Given the description of an element on the screen output the (x, y) to click on. 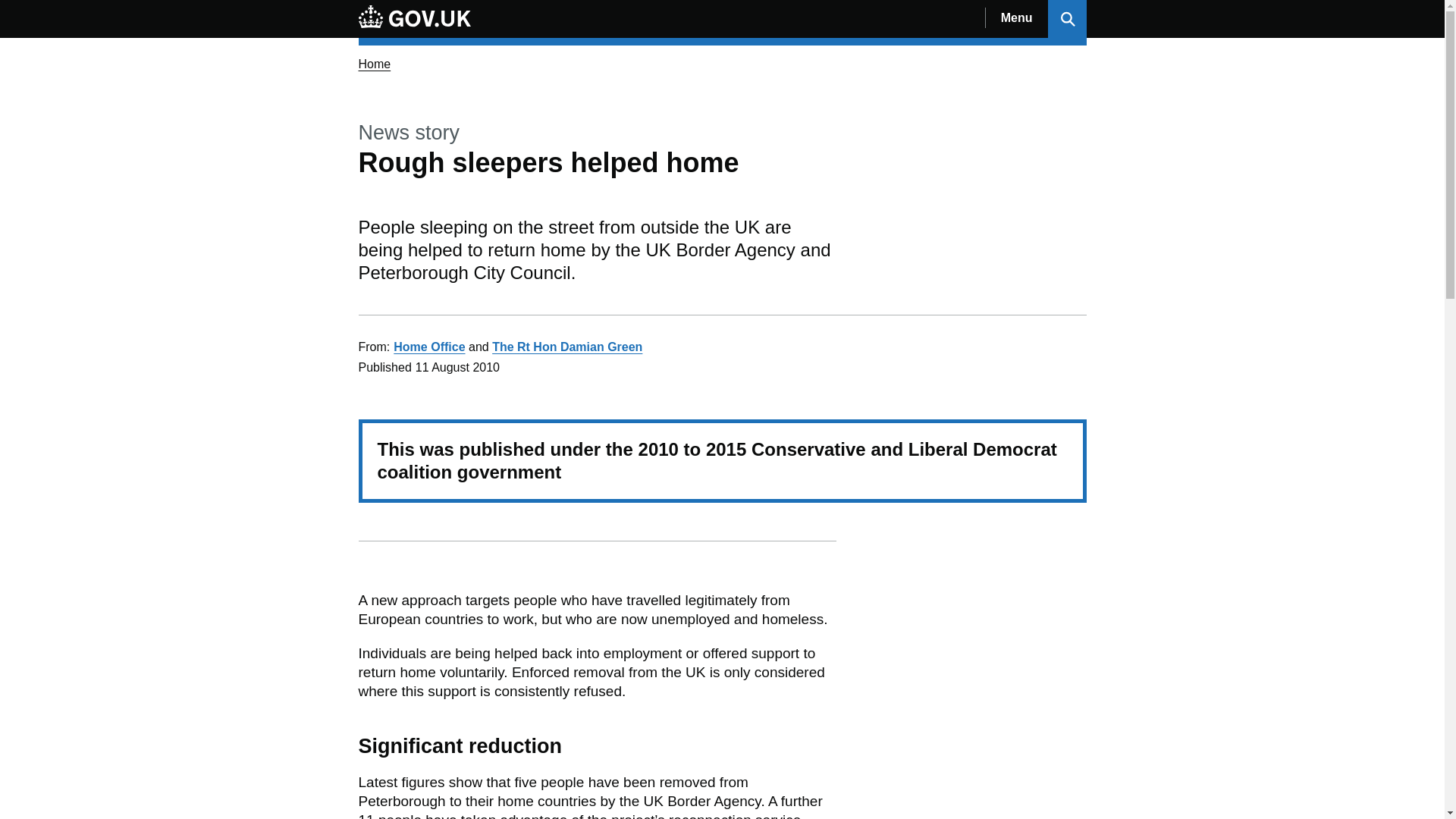
Home Office (428, 346)
GOV.UK (414, 18)
Menu (1016, 18)
GOV.UK (414, 15)
Home (374, 63)
The Rt Hon Damian Green (567, 346)
Search GOV.UK (1067, 18)
